Given the description of an element on the screen output the (x, y) to click on. 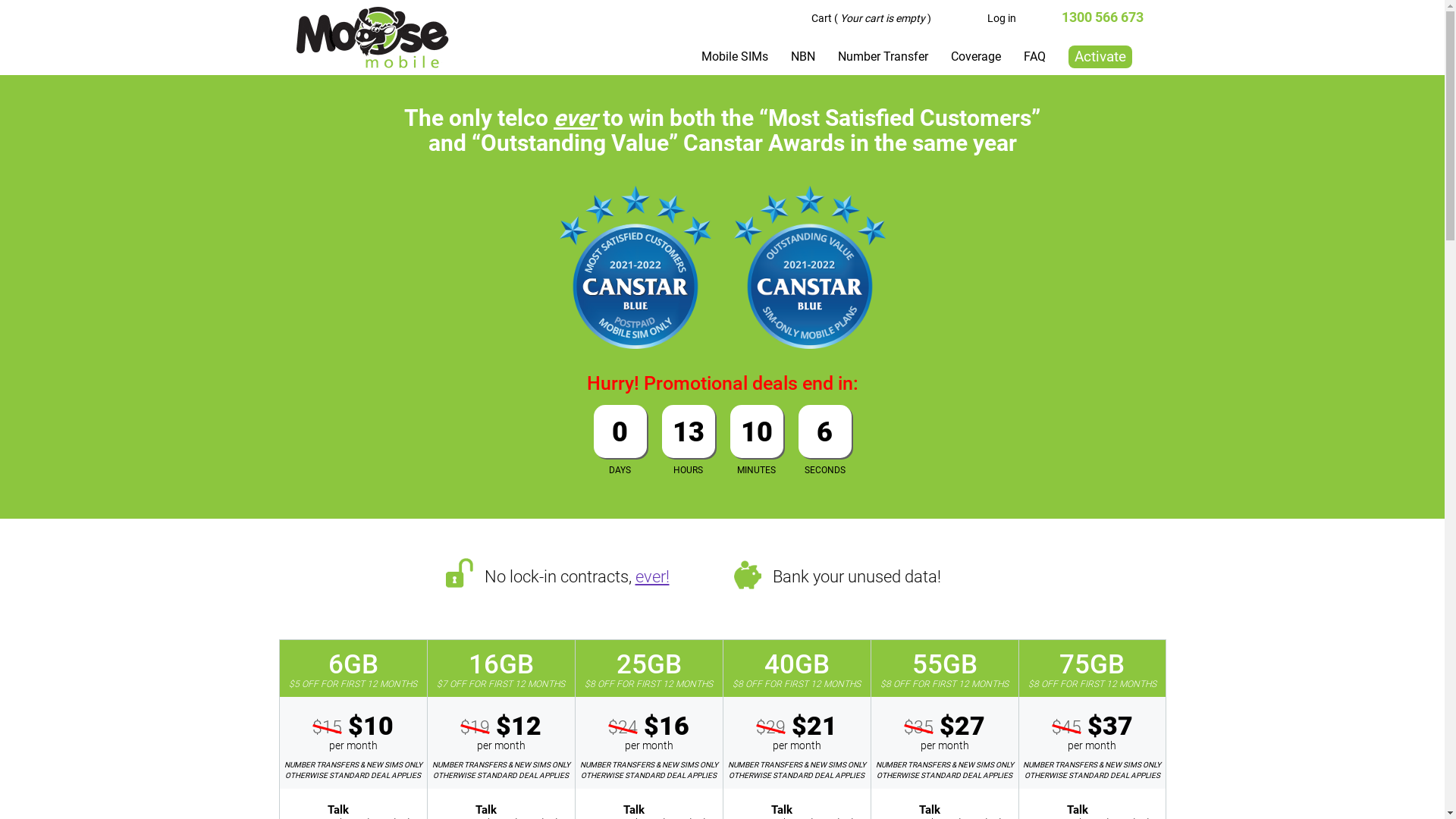
Log in Element type: text (998, 18)
FAQ Element type: text (1034, 56)
1300 566 673 Element type: text (1102, 17)
Moose Mobile Element type: hover (371, 37)
Number Transfer Element type: text (882, 56)
Cart ( Your cart is empty ) Element type: text (868, 18)
Activate Element type: text (1099, 56)
Mobile SIMs Element type: text (733, 56)
NBN Element type: text (802, 56)
Coverage Element type: text (975, 56)
